Given the description of an element on the screen output the (x, y) to click on. 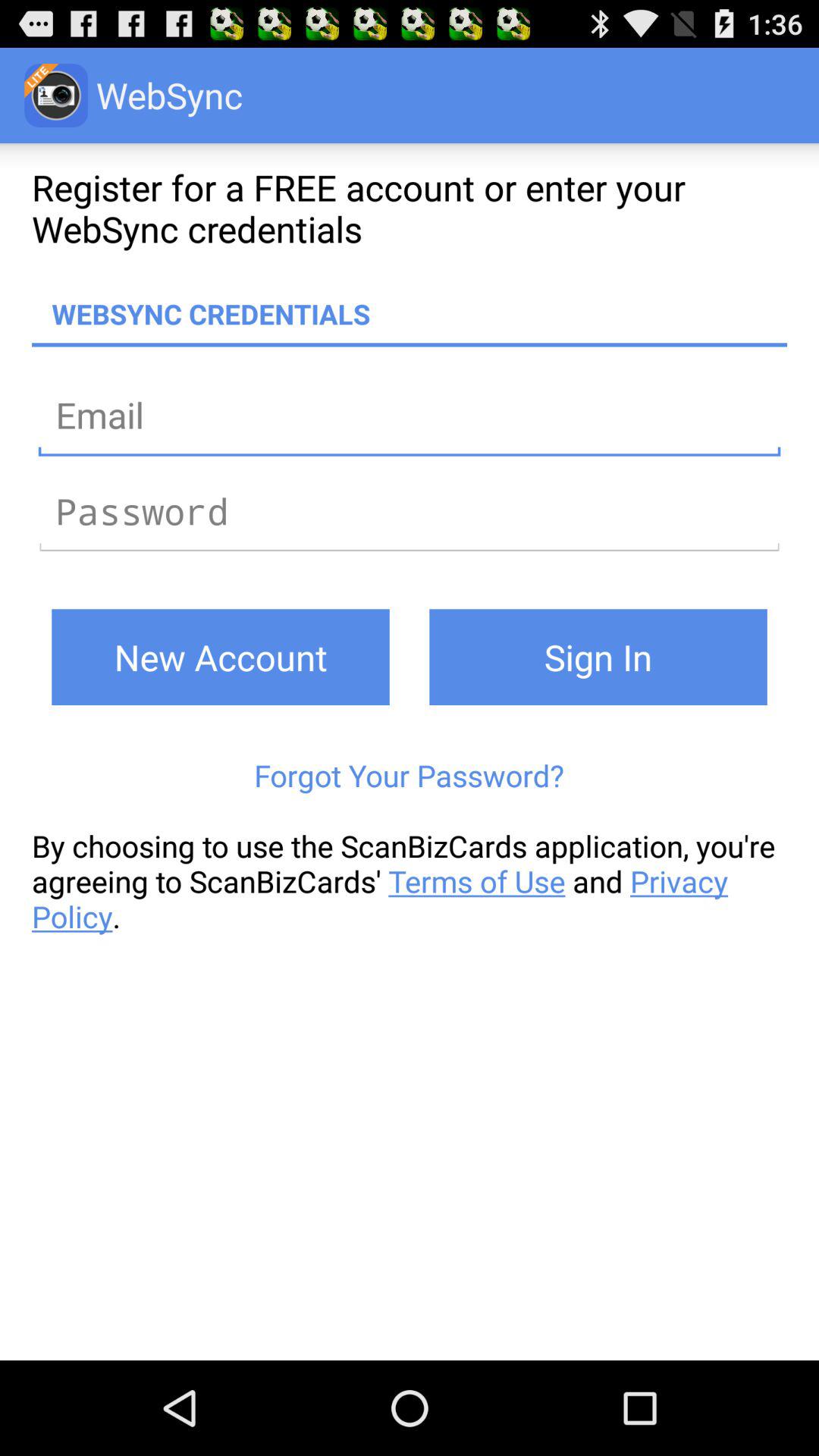
password (409, 510)
